Given the description of an element on the screen output the (x, y) to click on. 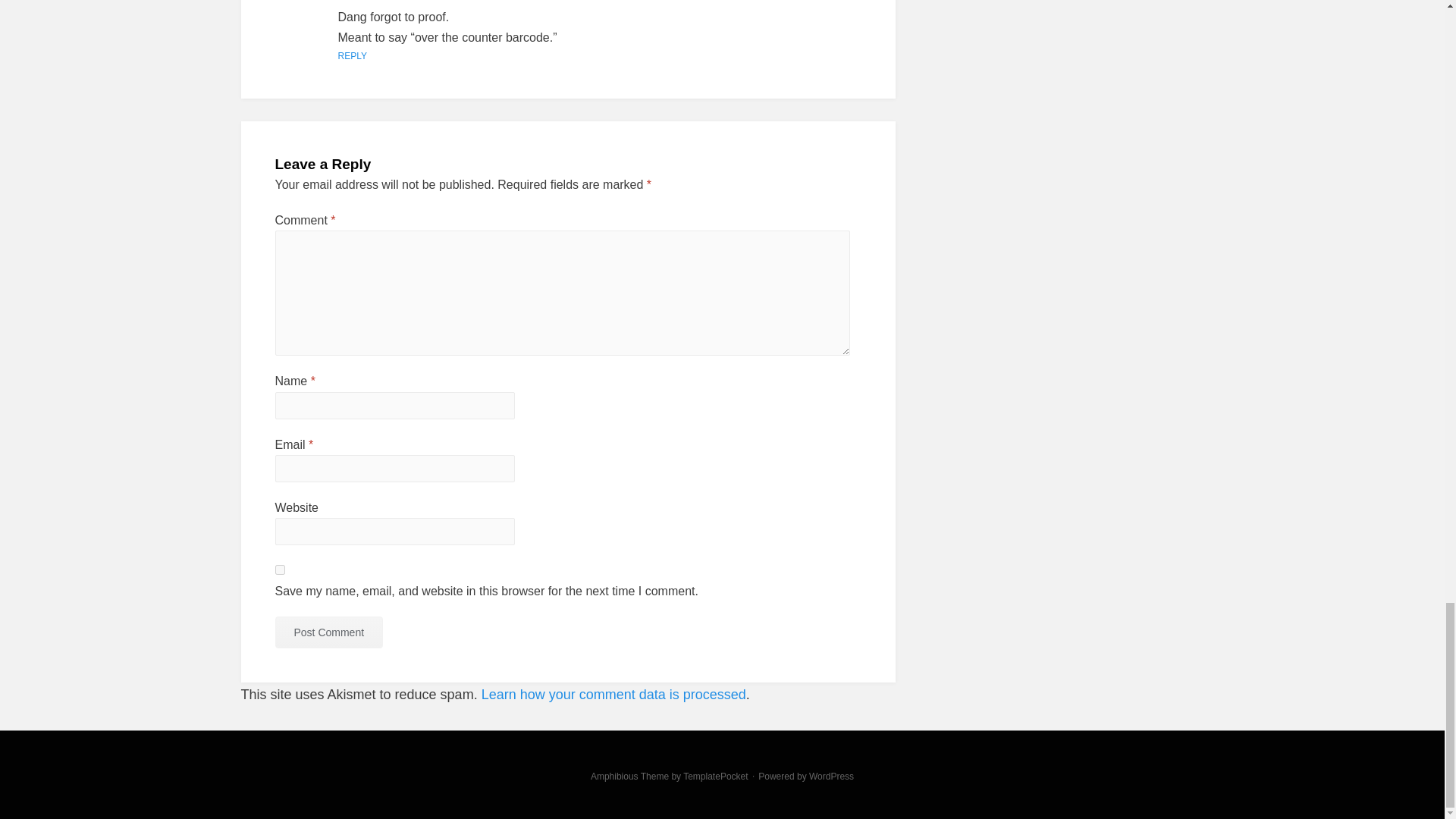
Learn how your comment data is processed (613, 694)
yes (279, 569)
Post Comment (328, 632)
Post Comment (328, 632)
REPLY (351, 55)
